Given the description of an element on the screen output the (x, y) to click on. 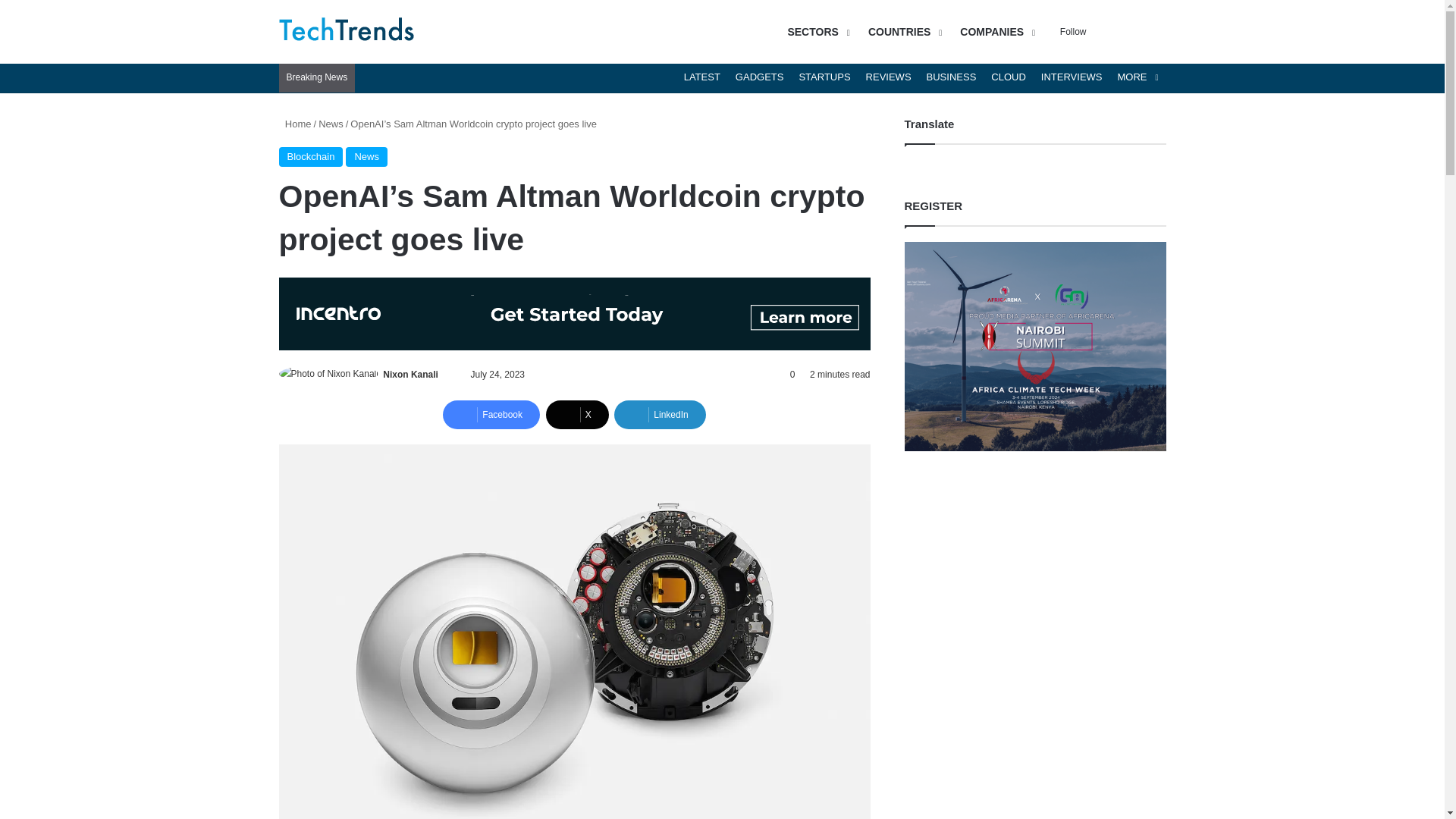
SECTORS (816, 31)
Facebook (491, 414)
COMPANIES (995, 31)
COUNTRIES (903, 31)
Nixon Kanali (410, 374)
TechTrendsKE (346, 31)
LinkedIn (659, 414)
X (577, 414)
